Given the description of an element on the screen output the (x, y) to click on. 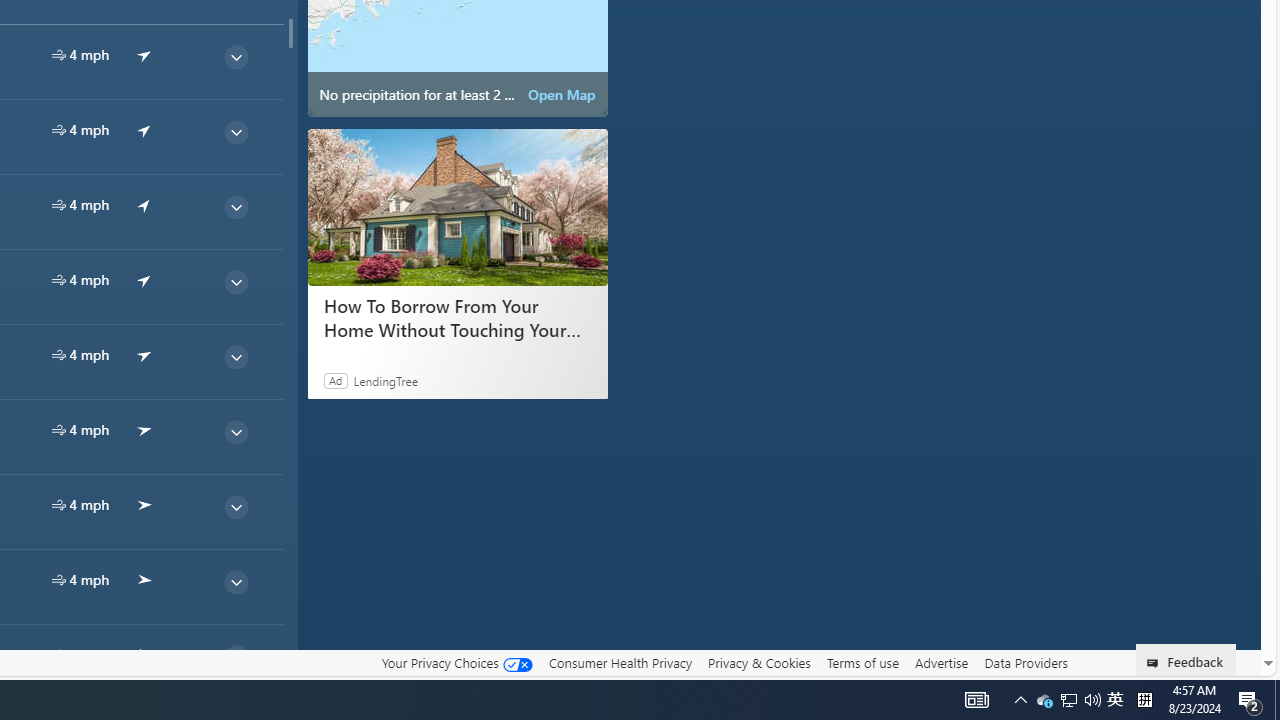
common/arrow (143, 654)
Data Providers (1025, 662)
common/thinArrow (235, 656)
hourlyTable/wind (58, 654)
Open Map (561, 94)
Data Providers (1025, 663)
